Given the description of an element on the screen output the (x, y) to click on. 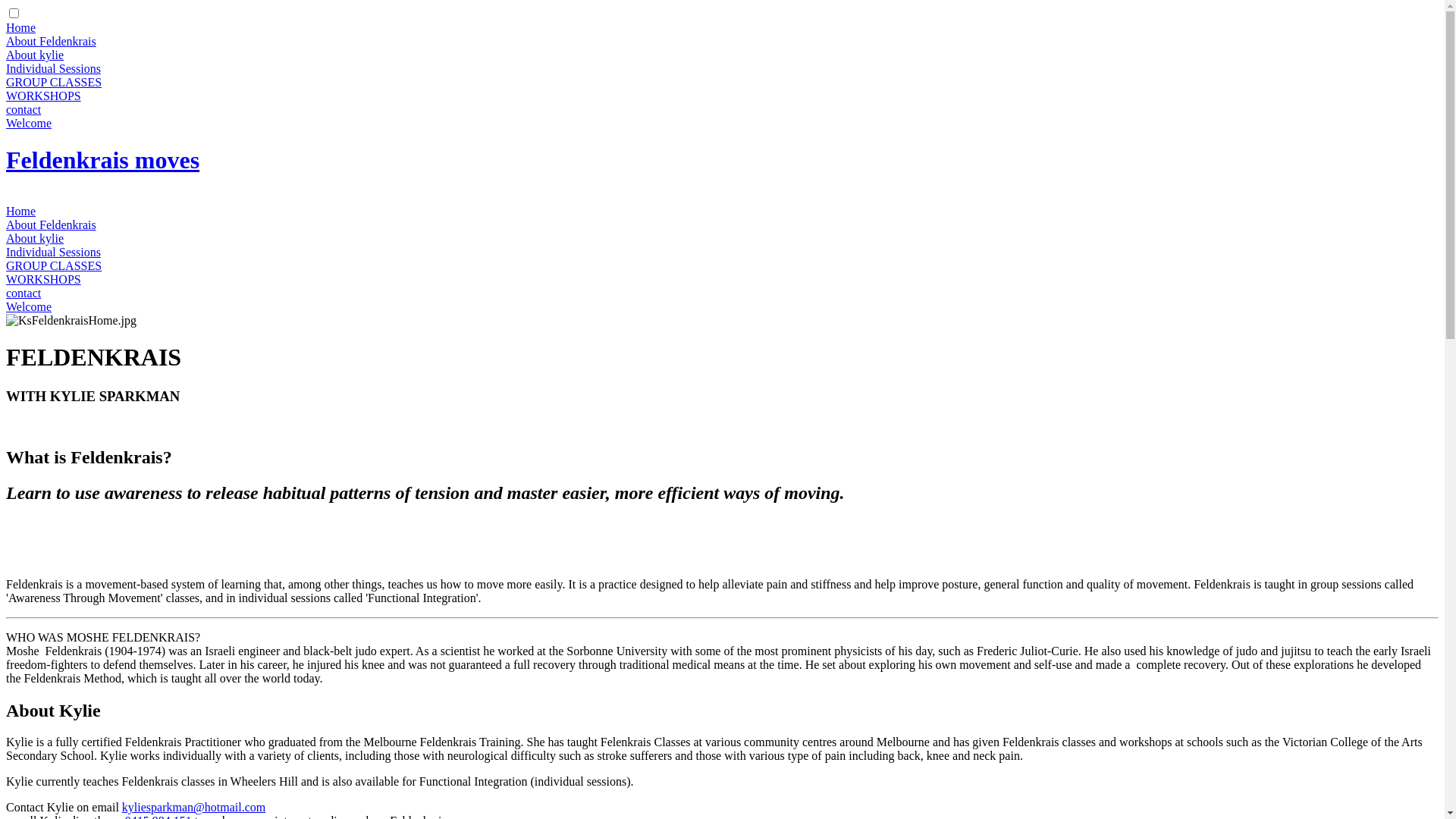
Feldenkrais moves Element type: text (102, 159)
Home Element type: text (20, 210)
Welcome Element type: text (28, 306)
WORKSHOPS Element type: text (43, 279)
About Feldenkrais Element type: text (51, 40)
Individual Sessions Element type: text (53, 68)
Individual Sessions Element type: text (53, 251)
WORKSHOPS Element type: text (43, 95)
contact Element type: text (23, 292)
About kylie Element type: text (34, 54)
GROUP CLASSES Element type: text (53, 265)
About Feldenkrais Element type: text (51, 224)
GROUP CLASSES Element type: text (53, 81)
kyliesparkman@hotmail.com Element type: text (193, 806)
Welcome Element type: text (28, 122)
About kylie Element type: text (34, 238)
contact Element type: text (23, 109)
Home Element type: text (20, 27)
